Given the description of an element on the screen output the (x, y) to click on. 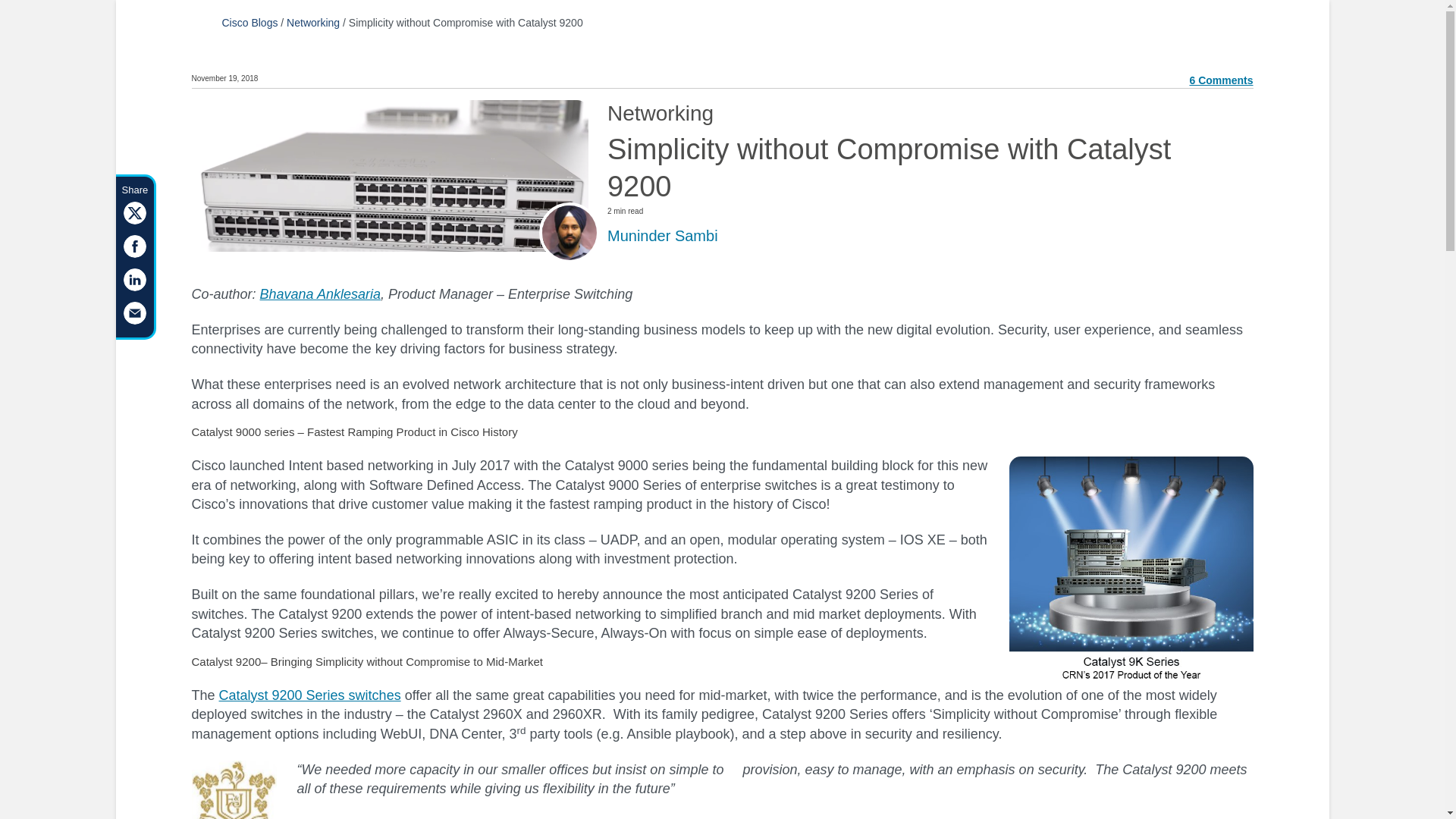
Networking (312, 22)
Bhavana Anklesaria (320, 294)
Catalyst 9200 Series switches (310, 694)
Muninder Sambi (662, 235)
Cisco Blogs (249, 22)
Posts by Muninder Sambi (662, 235)
